Given the description of an element on the screen output the (x, y) to click on. 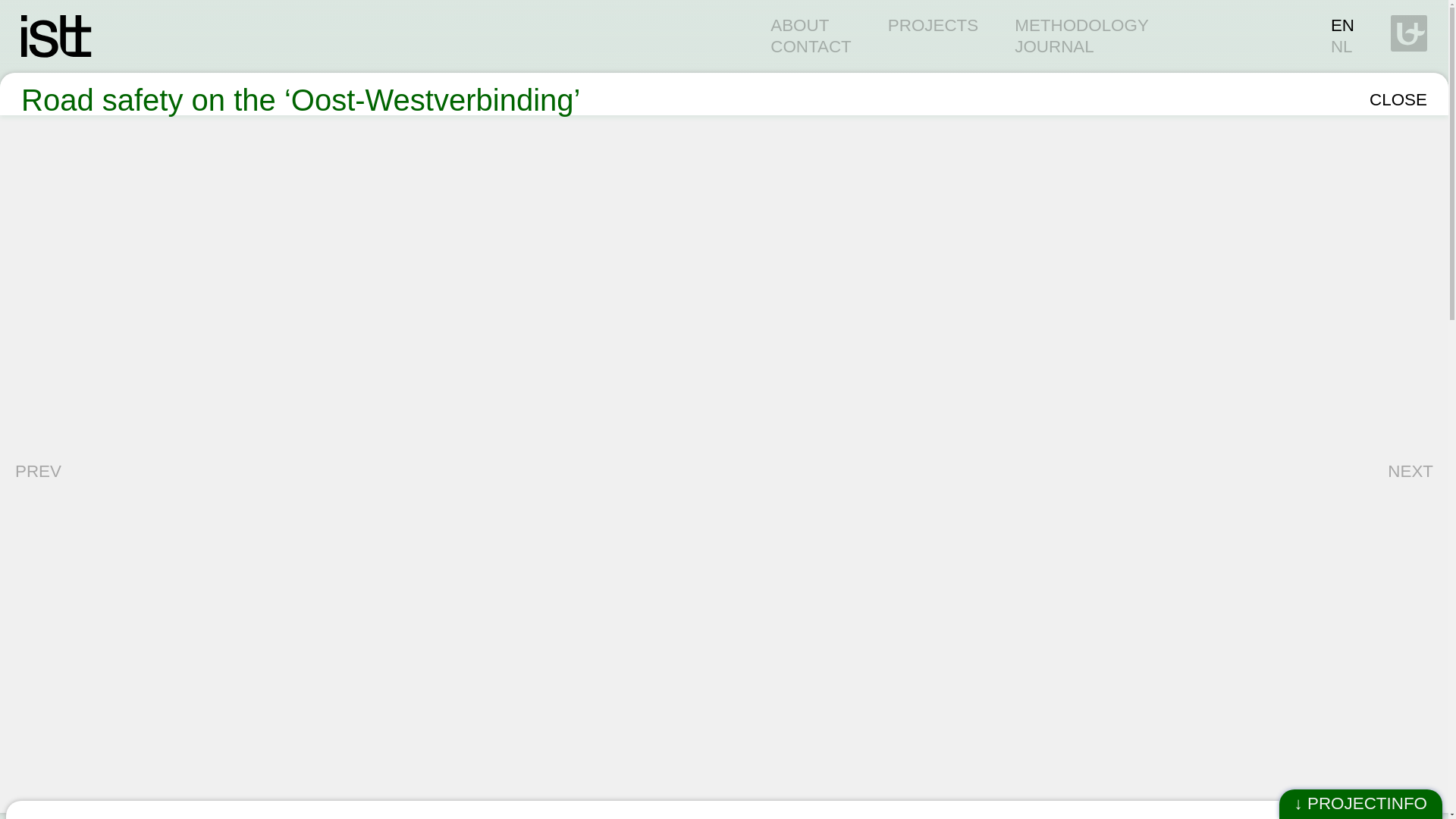
NL (1341, 46)
PROJECTS (933, 25)
JOURNAL (1054, 46)
CONTACT (810, 46)
CLOSE (1398, 99)
METHODOLOGY (1081, 25)
ABOUT (799, 25)
EN (1342, 25)
